Given the description of an element on the screen output the (x, y) to click on. 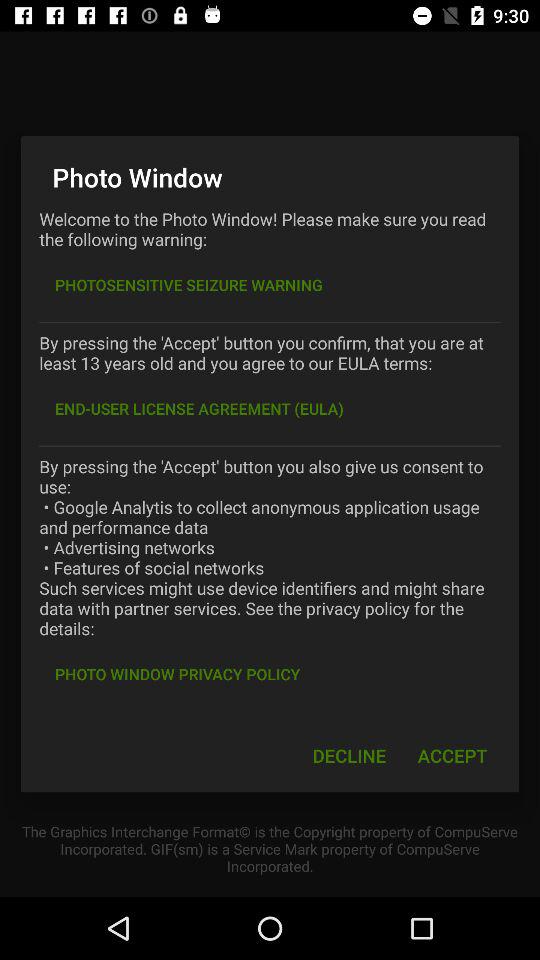
turn off the item below the by pressing the (199, 408)
